Given the description of an element on the screen output the (x, y) to click on. 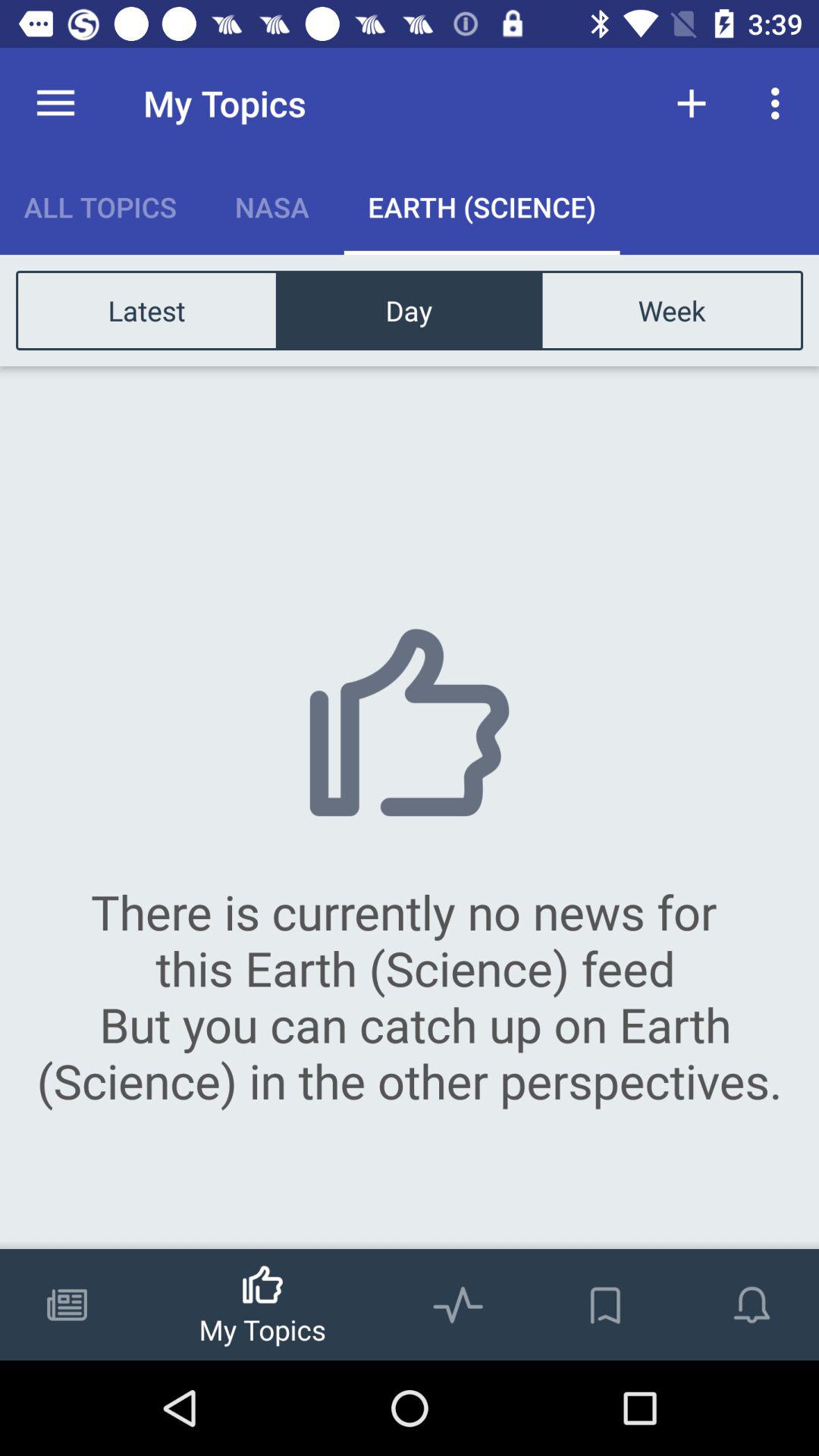
select item above the there is currently item (409, 310)
